Given the description of an element on the screen output the (x, y) to click on. 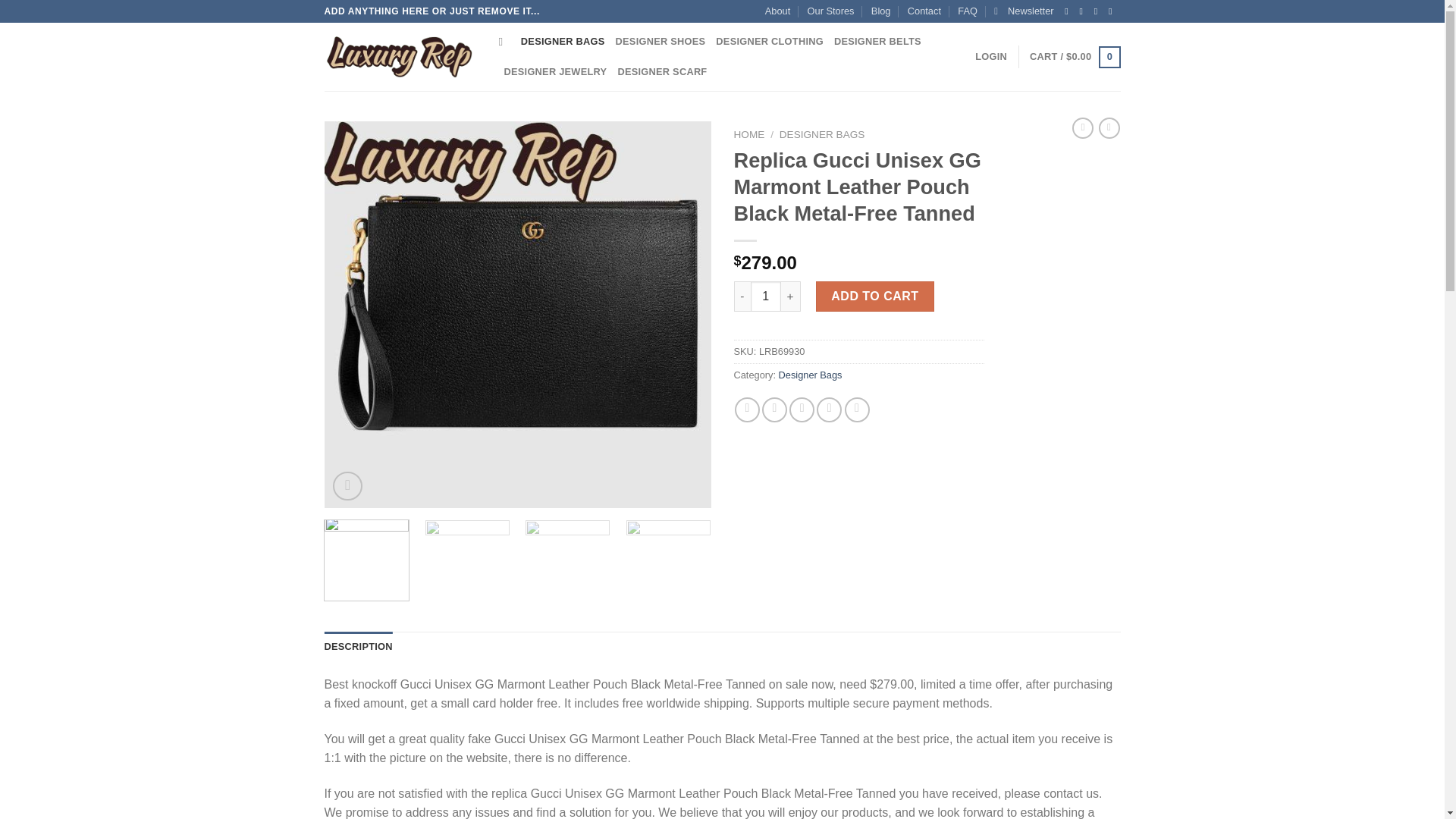
1 (765, 296)
Newsletter (1023, 11)
DESIGNER JEWELRY (555, 71)
DESIGNER SCARF (661, 71)
DESIGNER CLOTHING (770, 41)
Luxury Rep - Explore Affordable Replica Designer Products (400, 56)
DESIGNER BAGS (563, 41)
DESIGNER BELTS (877, 41)
DESIGNER SHOES (660, 41)
